Given the description of an element on the screen output the (x, y) to click on. 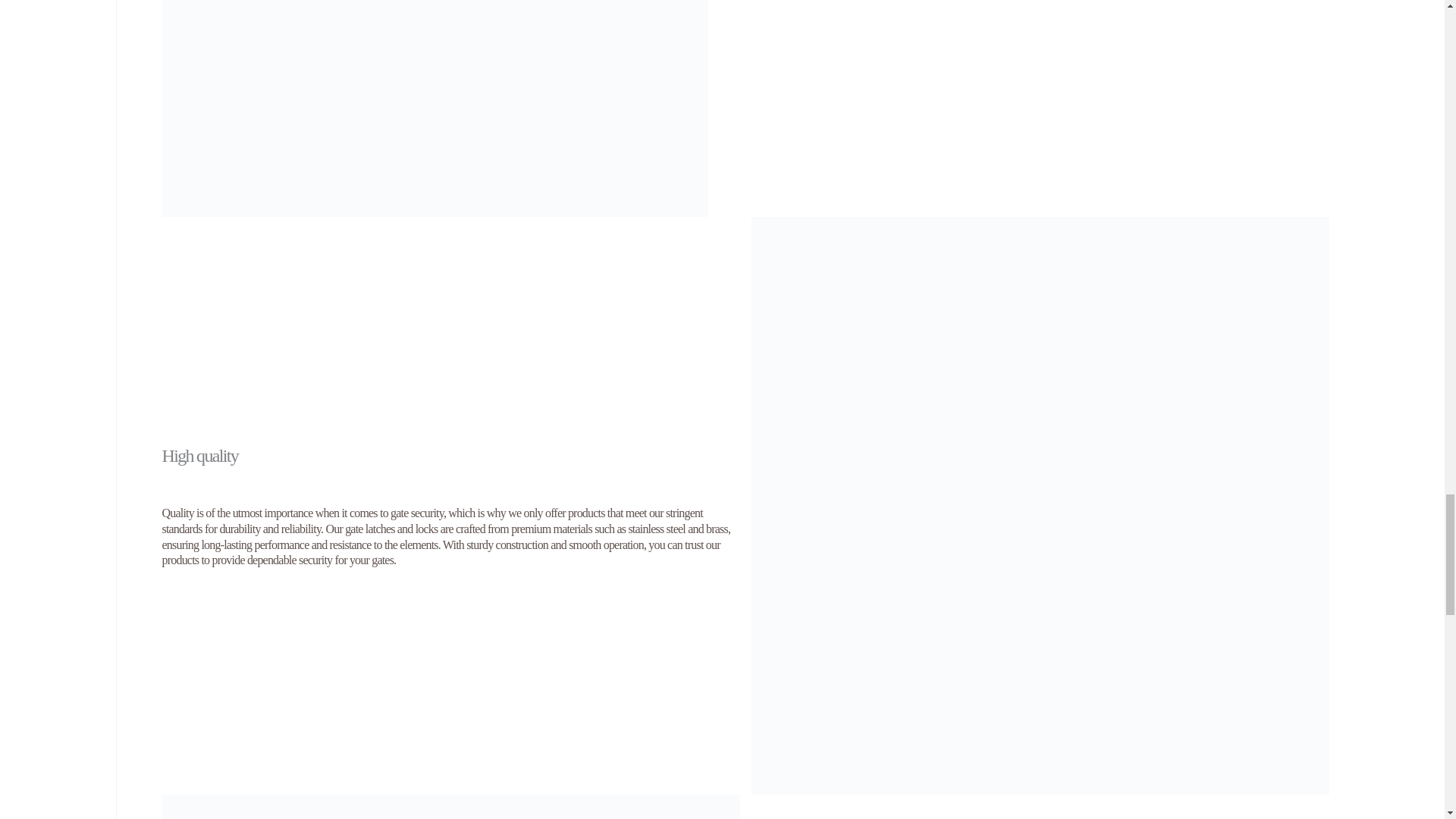
Bespoke pergola TAW Garden Landscapes 2020.jpg (434, 108)
